Given the description of an element on the screen output the (x, y) to click on. 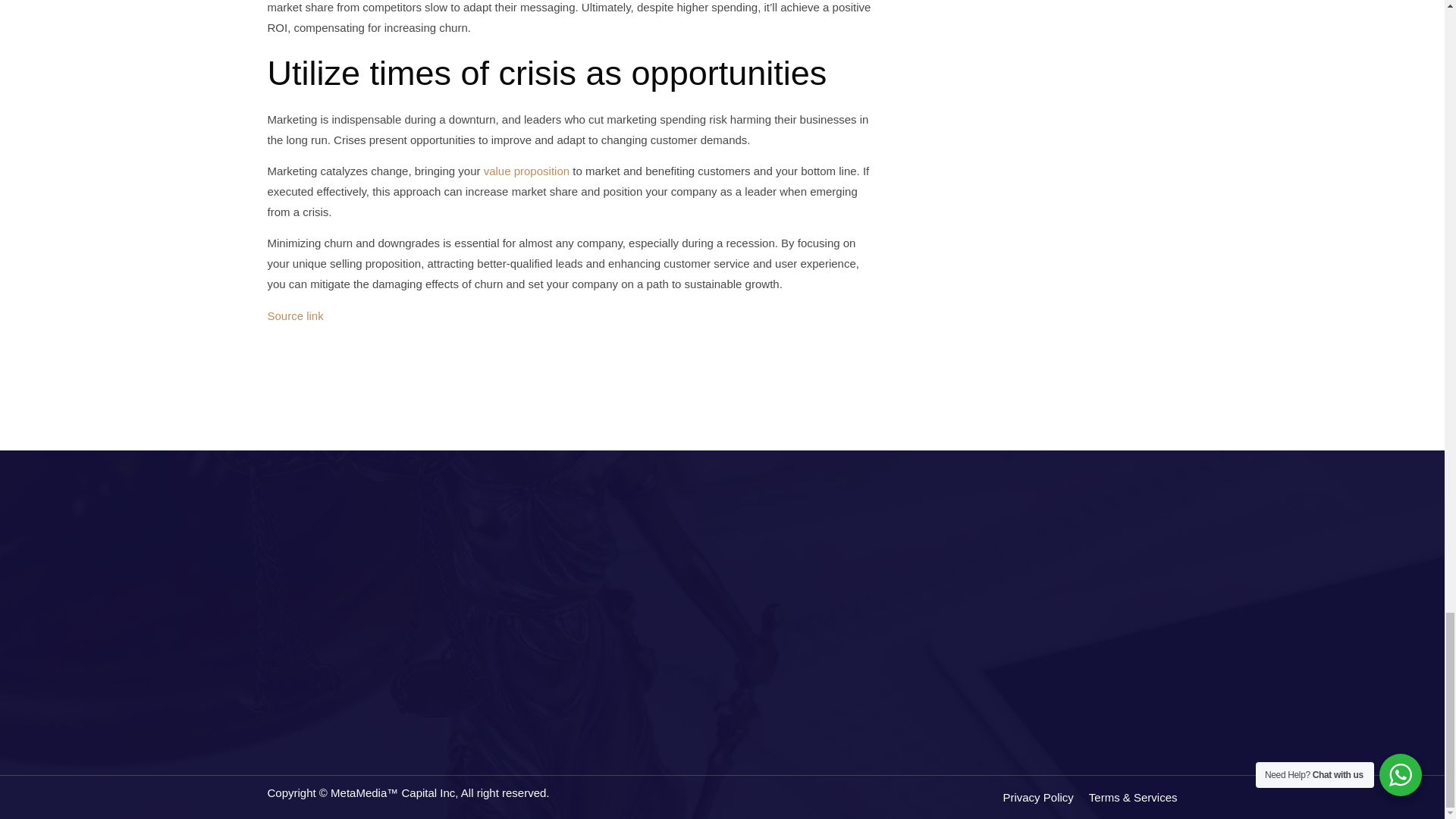
value proposition (526, 170)
Privacy Policy (1045, 797)
Source link (294, 315)
